Given the description of an element on the screen output the (x, y) to click on. 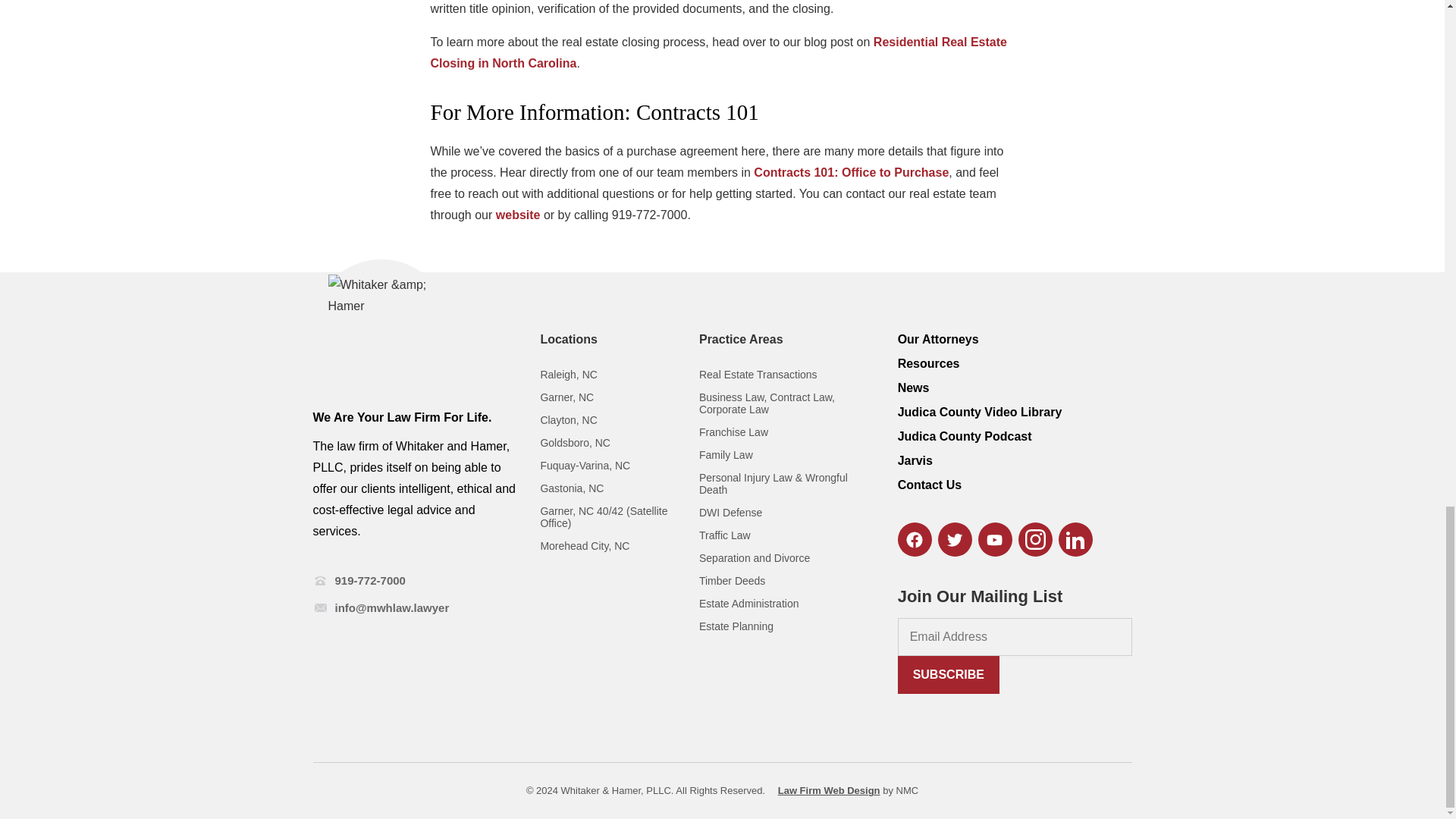
919-772-7000 (370, 580)
Contracts 101: Office to Purchase (851, 172)
Subscribe (948, 674)
Residential Real Estate Closing in North Carolina (718, 52)
website (518, 214)
